Given the description of an element on the screen output the (x, y) to click on. 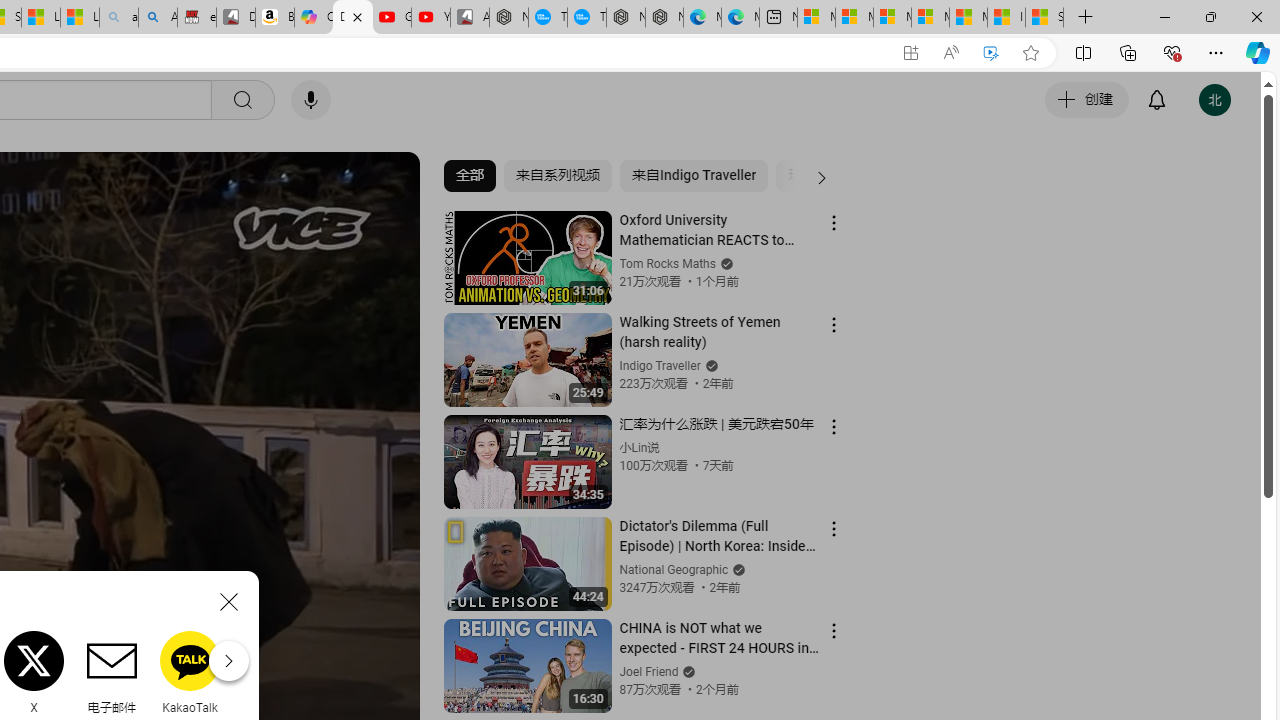
Microsoft account | Microsoft Account Privacy Settings (853, 17)
Nordace - Nordace has arrived Hong Kong (664, 17)
Reddit (267, 672)
Enhance video (991, 53)
